Given the description of an element on the screen output the (x, y) to click on. 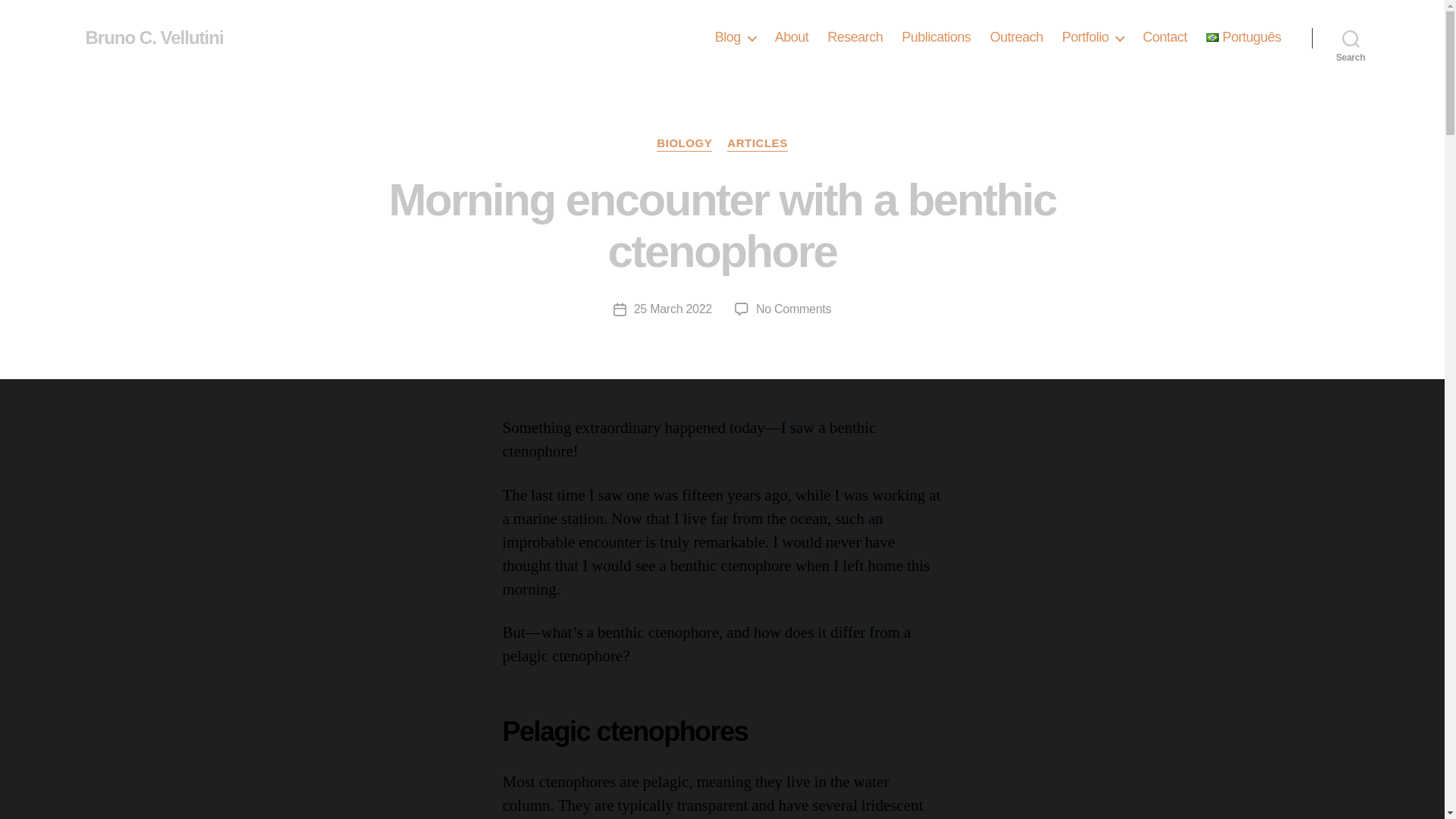
Bruno C. Vellutini (153, 37)
Blog (734, 37)
Publications (936, 37)
Search (1350, 37)
About (791, 37)
Contact (1165, 37)
Outreach (1016, 37)
Research (854, 37)
Portfolio (1092, 37)
